Given the description of an element on the screen output the (x, y) to click on. 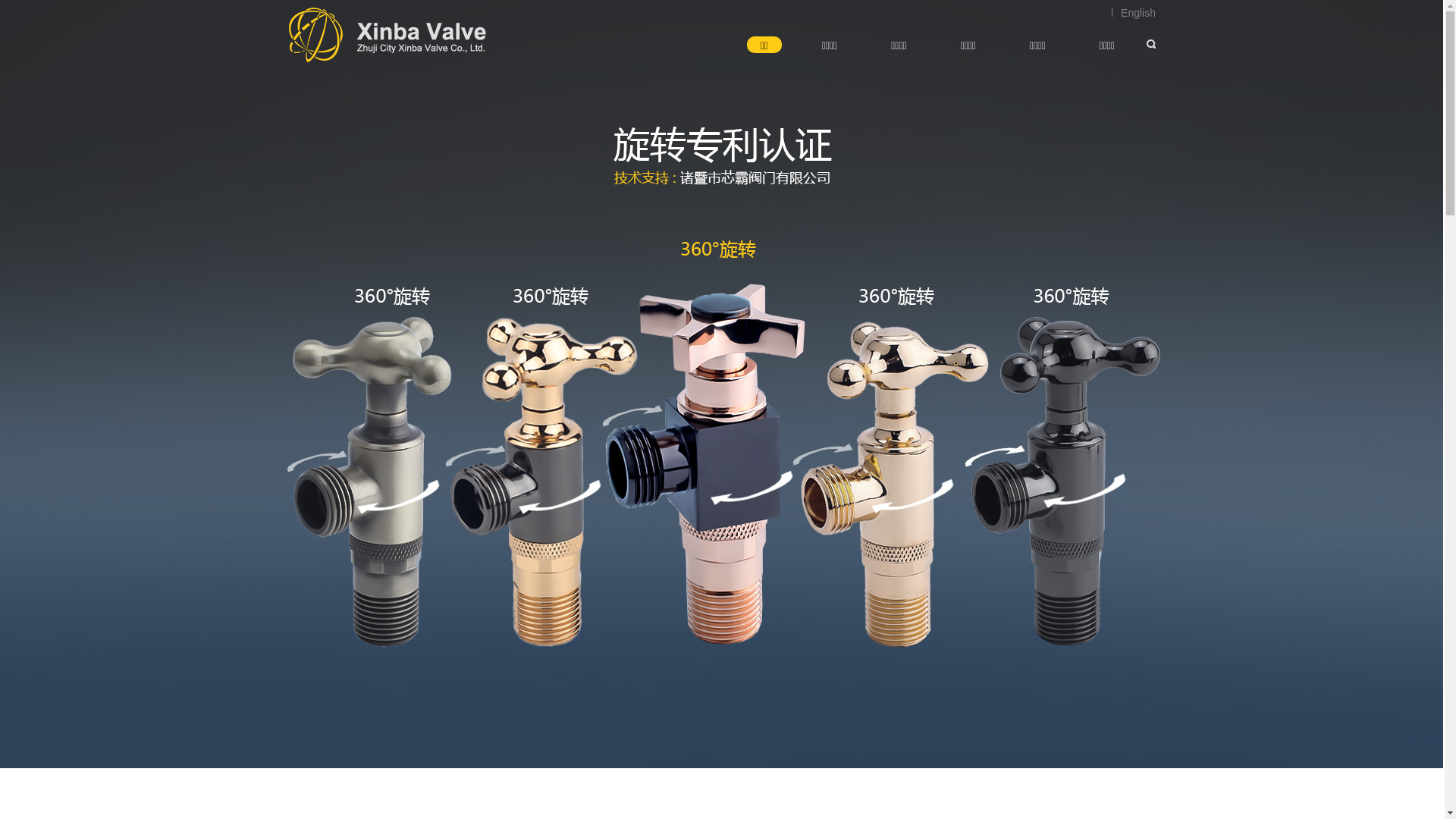
English Element type: text (1133, 12)
